Given the description of an element on the screen output the (x, y) to click on. 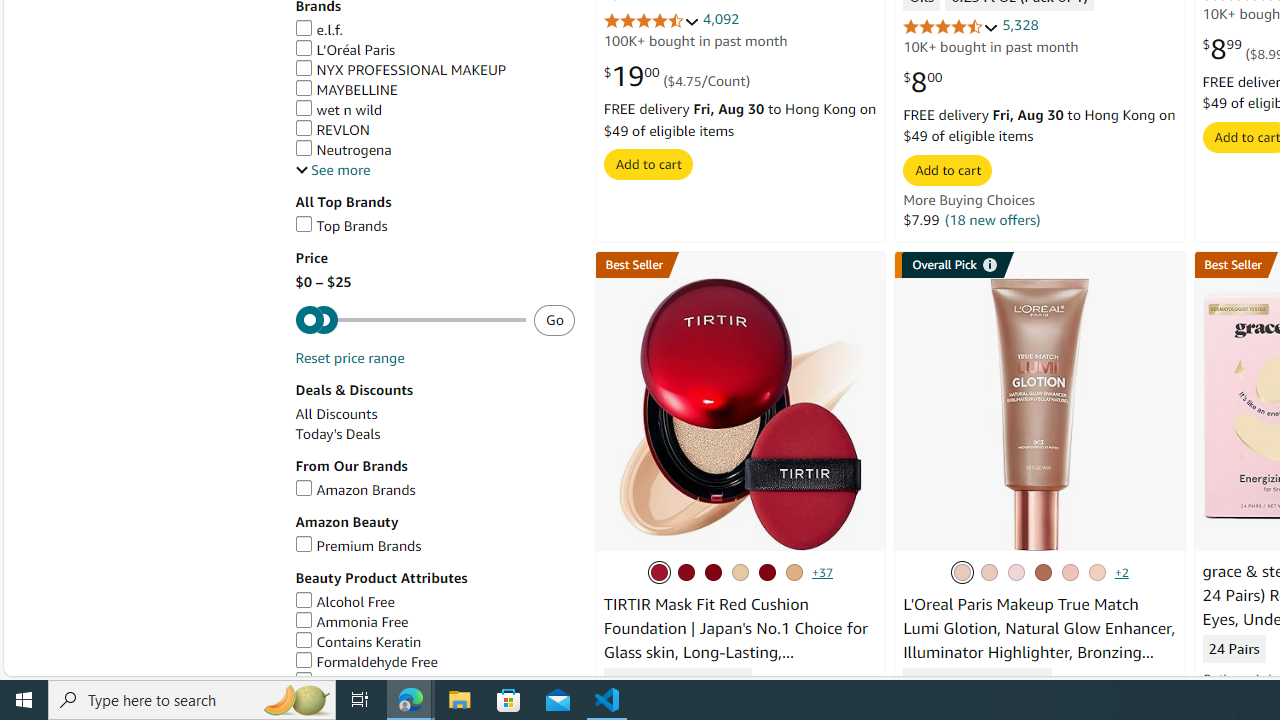
903 Medium (962, 572)
901 Fair (989, 572)
Add to cart (947, 169)
Fair (1070, 572)
4.6 out of 5 stars (950, 25)
$8.00 (922, 82)
Ammonia Free (351, 622)
Ammonia Free (434, 622)
Neutrogena (434, 150)
